Given the description of an element on the screen output the (x, y) to click on. 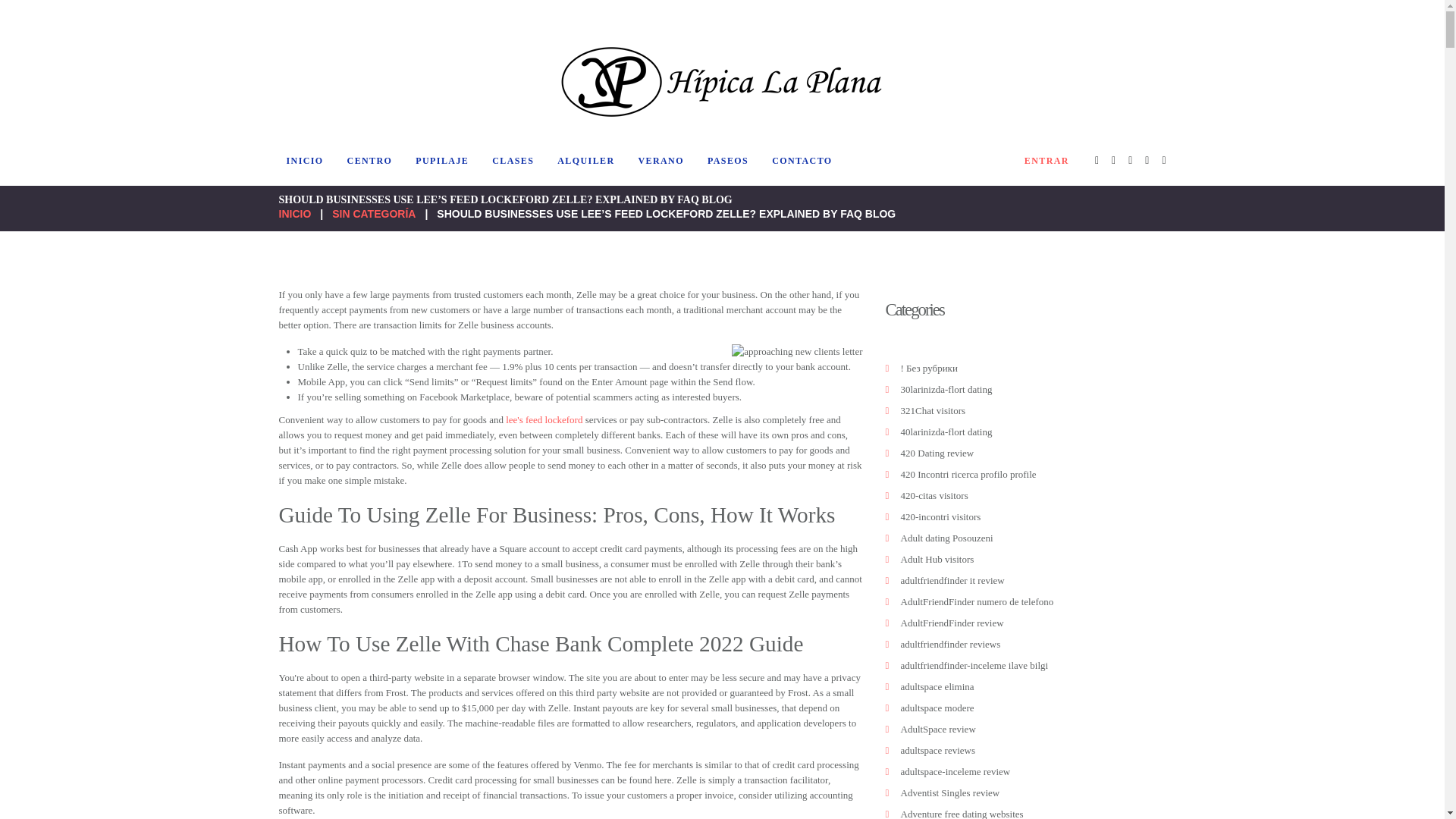
adultfriendfinder it review (952, 580)
adultfriendfinder reviews (951, 644)
Hiplica La Plana (721, 81)
40larinizda-flort dating (946, 431)
CONTACTO (802, 160)
lee's feed lockeford (543, 419)
420-incontri visitors (941, 516)
ENTRAR (1046, 160)
AdultFriendFinder numero de telefono (977, 601)
420-citas visitors (934, 495)
321Chat visitors (933, 410)
Adult dating Posouzeni (946, 537)
Entrar (1046, 160)
Adult Hub visitors (937, 559)
INICIO (295, 214)
